Given the description of an element on the screen output the (x, y) to click on. 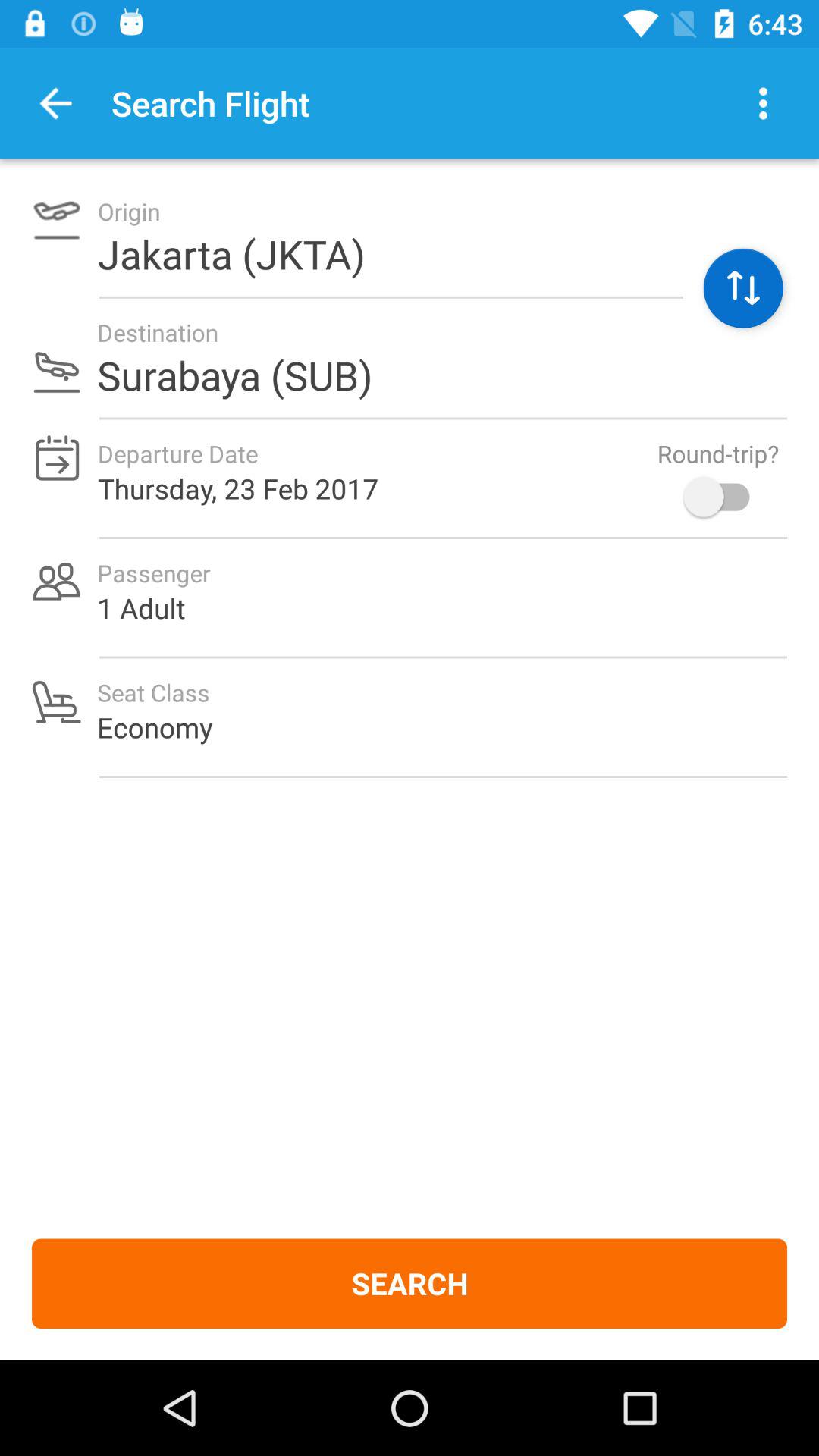
switch origin and destination (743, 288)
